Given the description of an element on the screen output the (x, y) to click on. 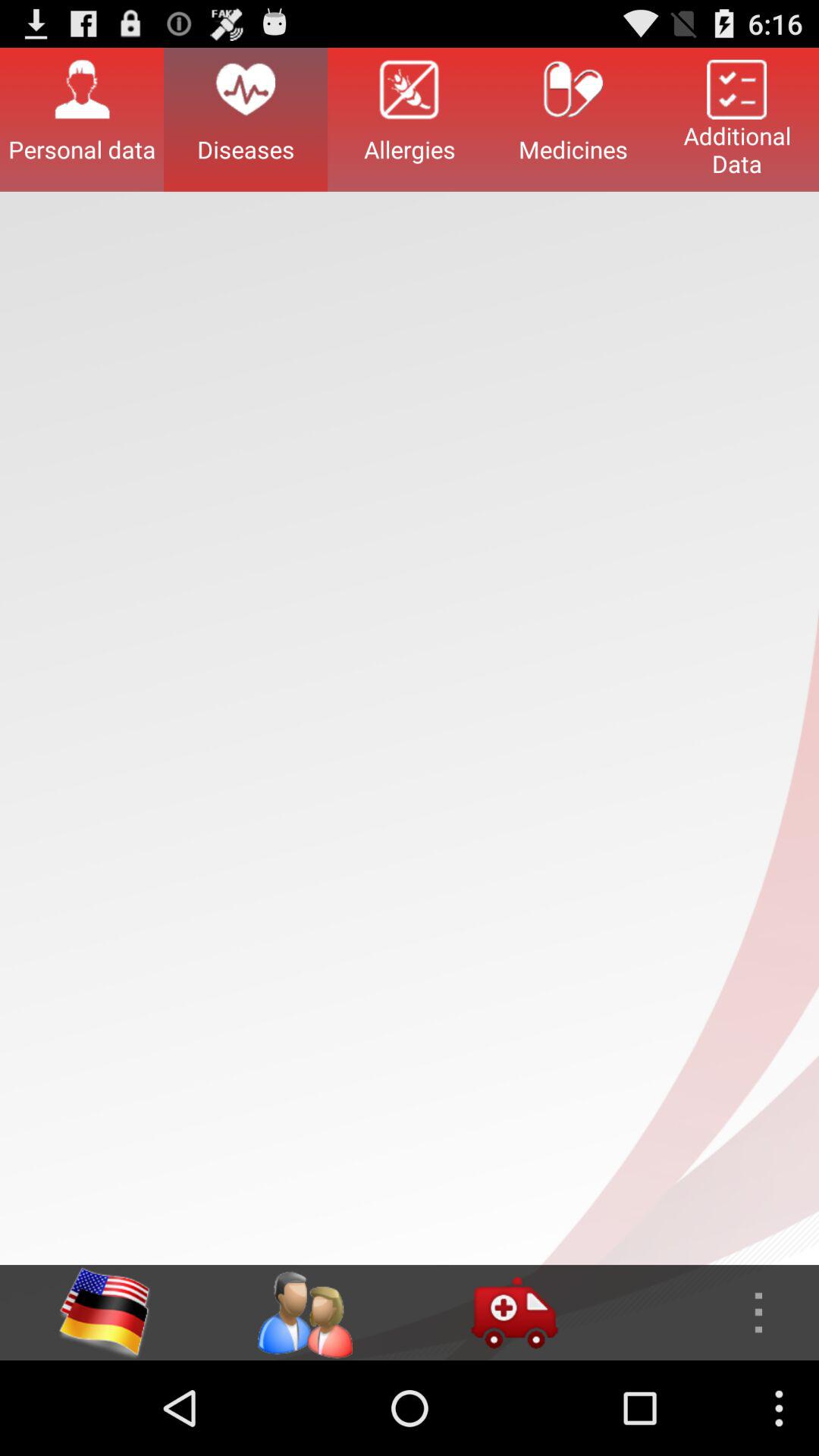
press the button next to the allergies item (573, 119)
